Given the description of an element on the screen output the (x, y) to click on. 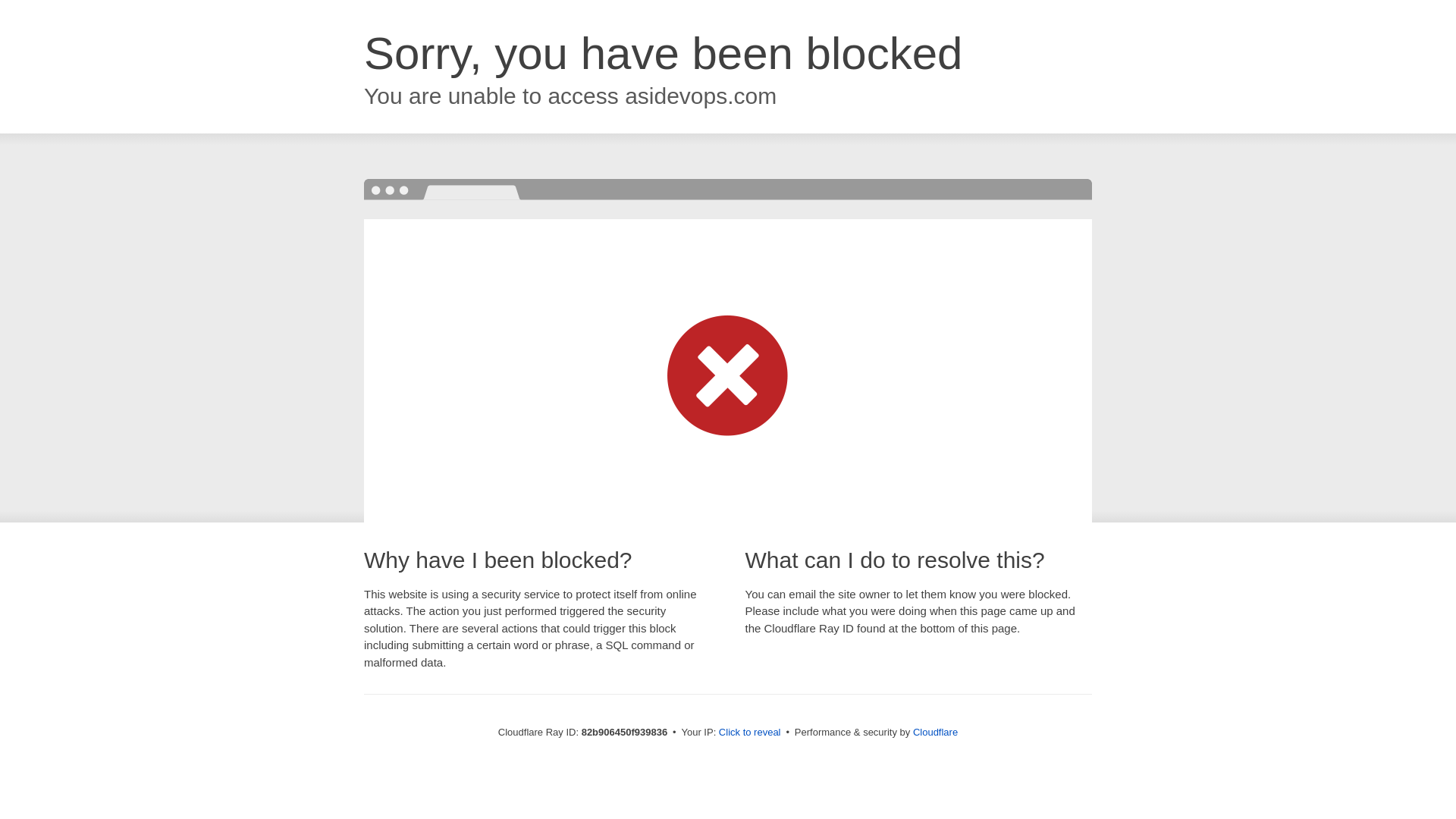
Cloudflare Element type: text (935, 731)
Click to reveal Element type: text (749, 732)
